Given the description of an element on the screen output the (x, y) to click on. 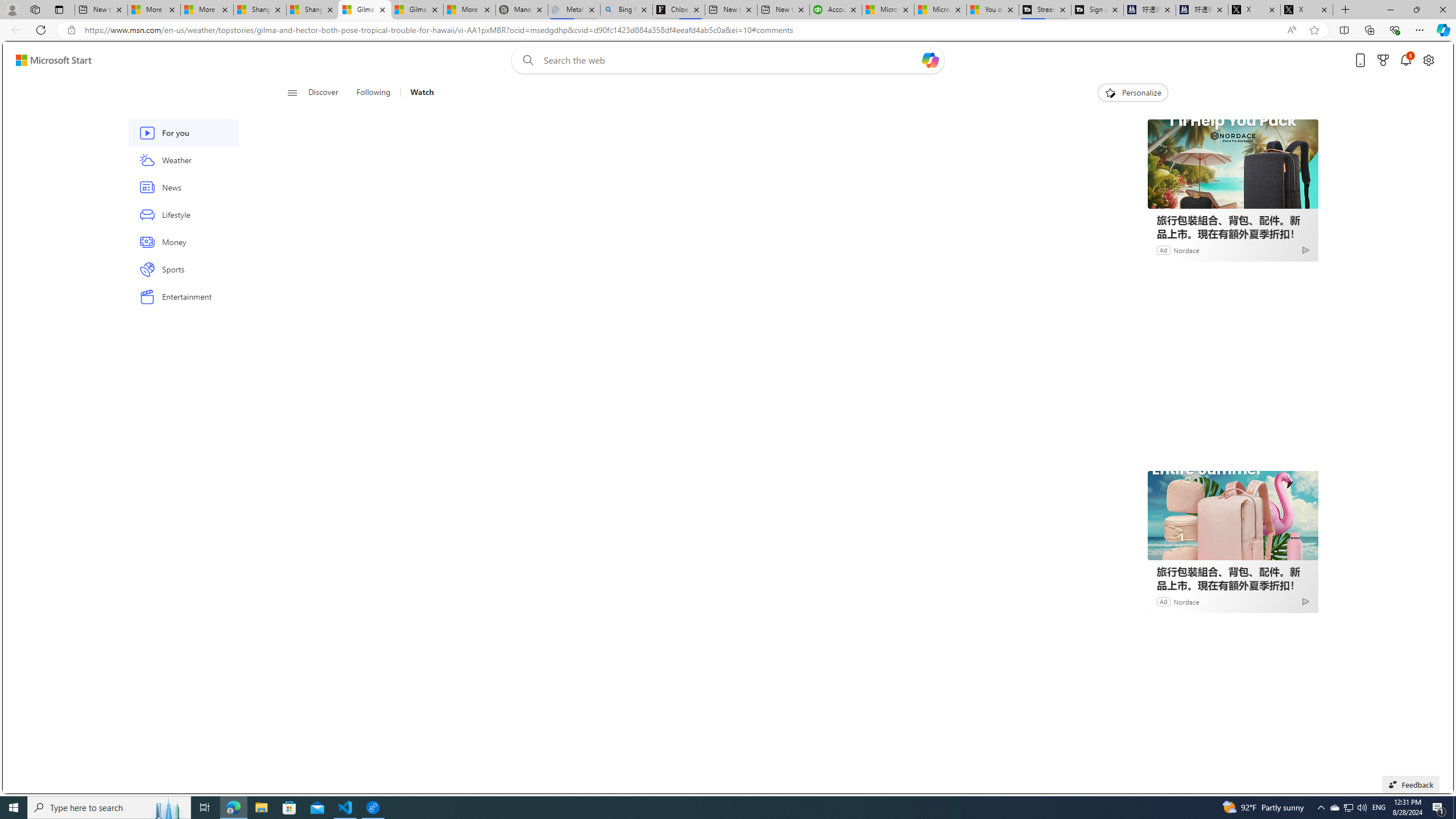
Feedback (1410, 784)
Web search (526, 60)
Enter your search term (730, 59)
Discover (322, 92)
Open settings (1427, 60)
